Given the description of an element on the screen output the (x, y) to click on. 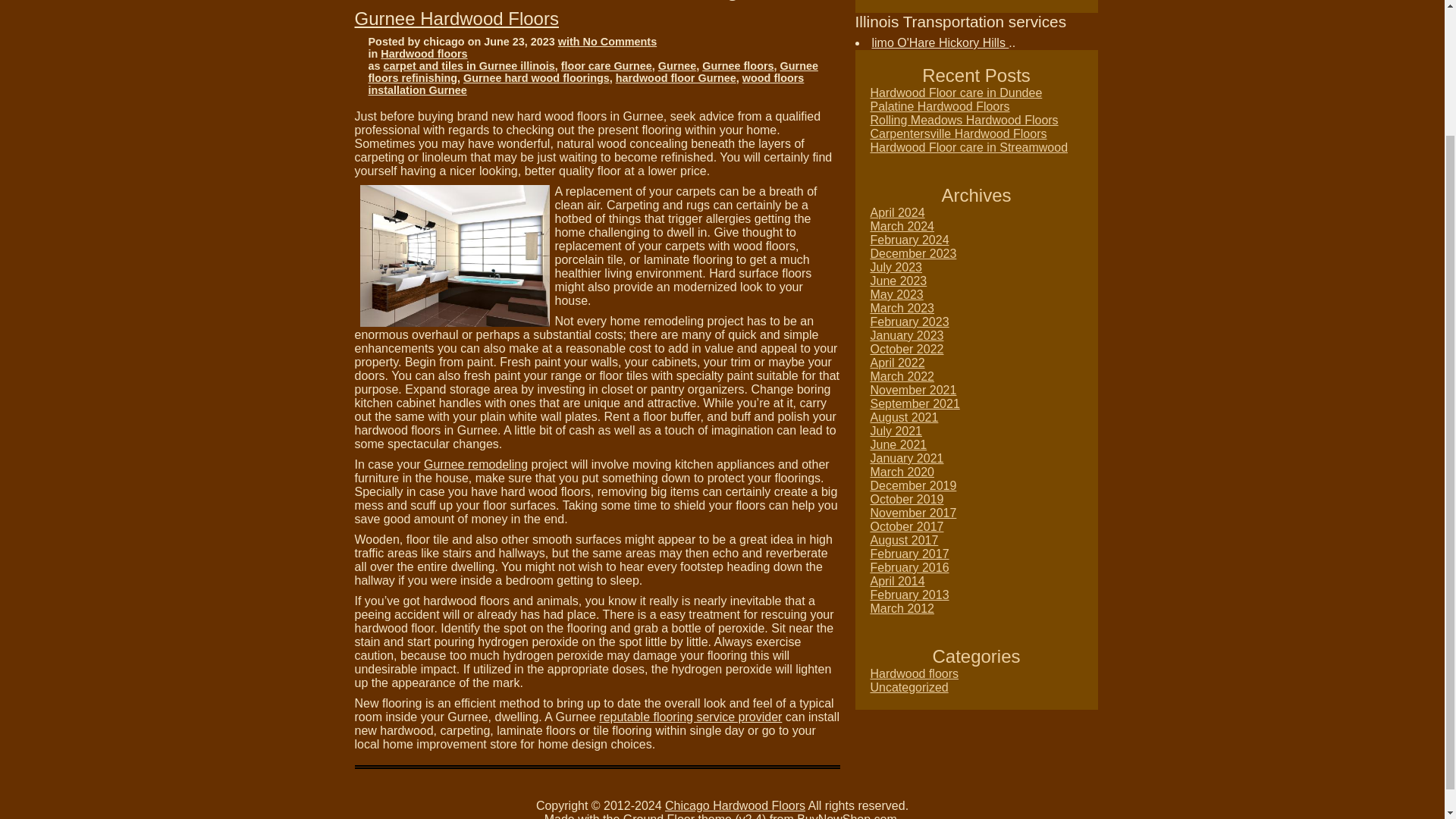
July 2023 (896, 267)
with No Comments (606, 41)
June 2023 (898, 280)
Gurnee Hardwood Floors (457, 18)
October 2022 (906, 349)
hardwood floor Gurnee (675, 78)
March 2022 (902, 376)
limo O'Hare Hickory Hills (940, 42)
carpet and tiles in Gurnee illinois (469, 65)
February 2023 (909, 321)
